Given the description of an element on the screen output the (x, y) to click on. 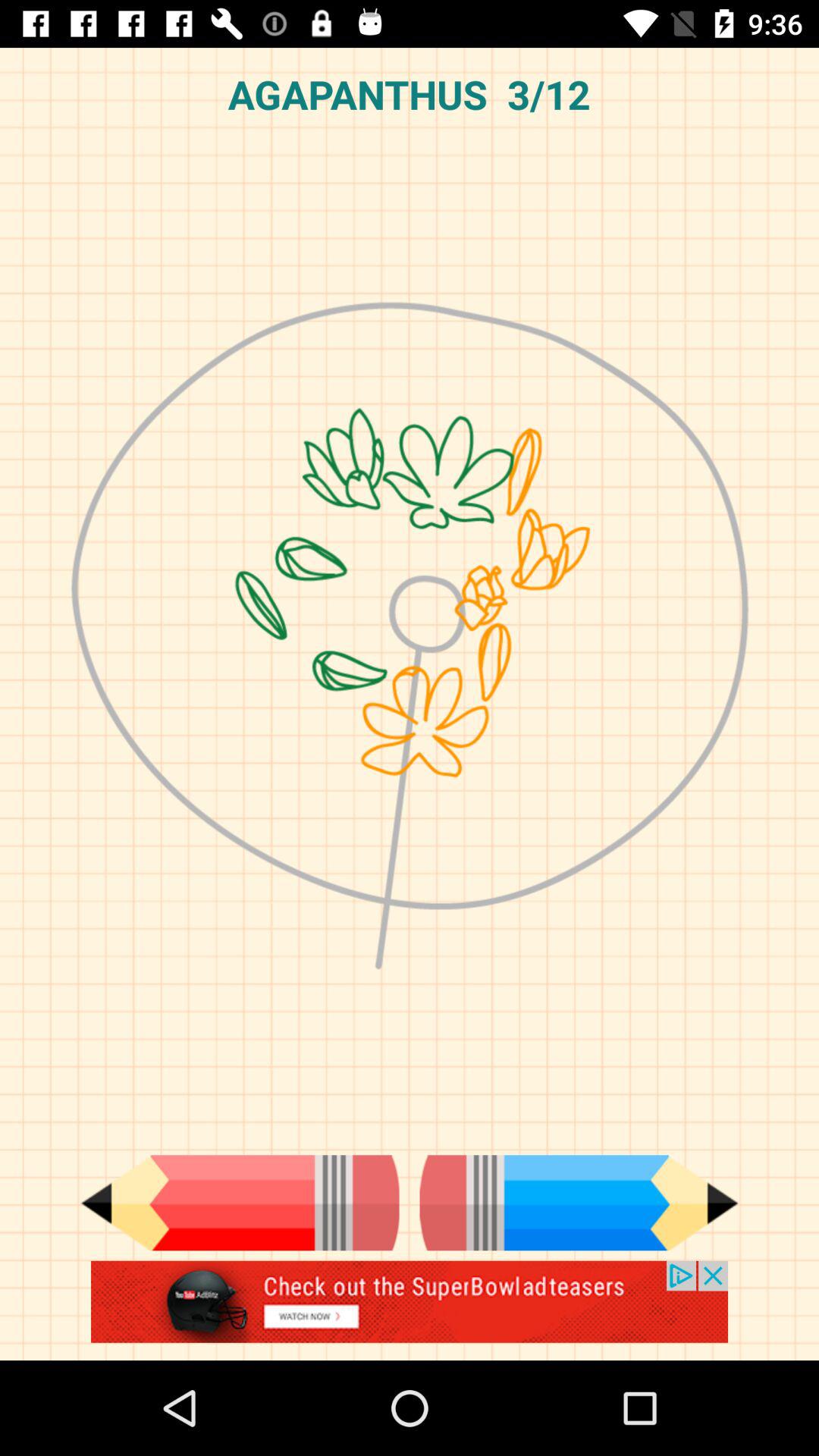
go back (239, 1202)
